Given the description of an element on the screen output the (x, y) to click on. 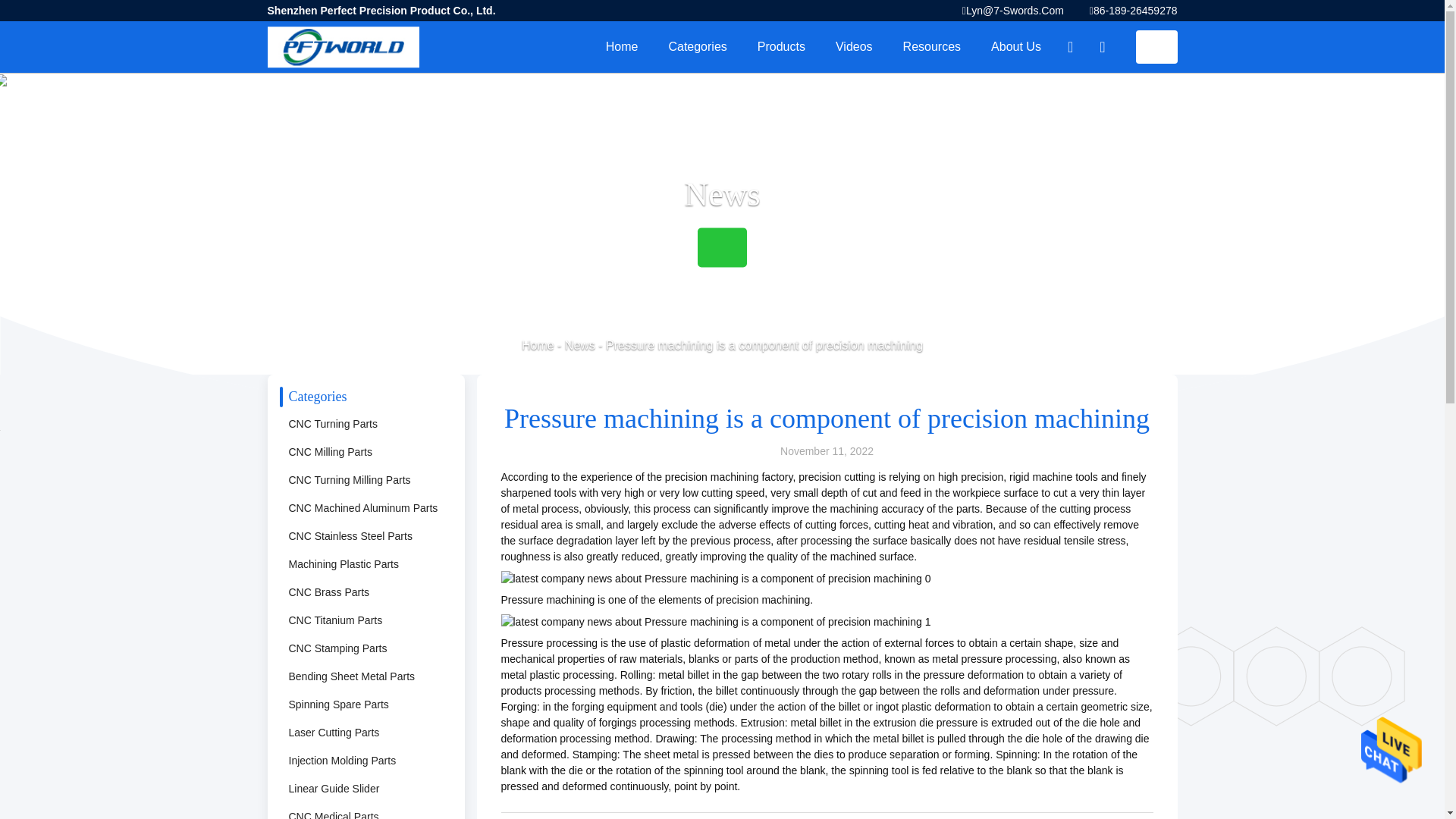
Quote (1156, 46)
Get a Quote (1156, 46)
Categories (696, 46)
Home (622, 46)
